Given the description of an element on the screen output the (x, y) to click on. 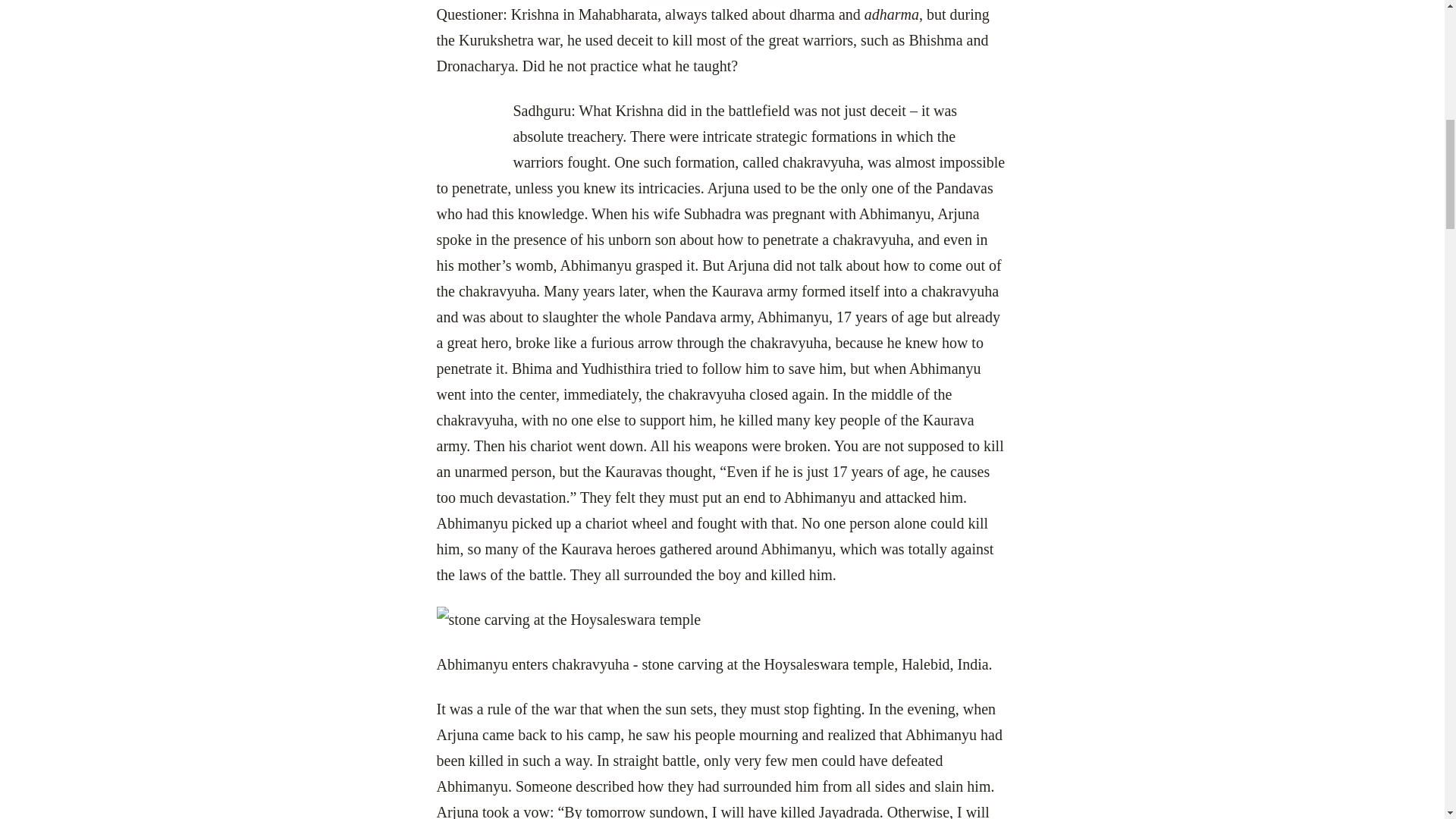
stone carving at the Hoysaleswara temple (722, 619)
